Given the description of an element on the screen output the (x, y) to click on. 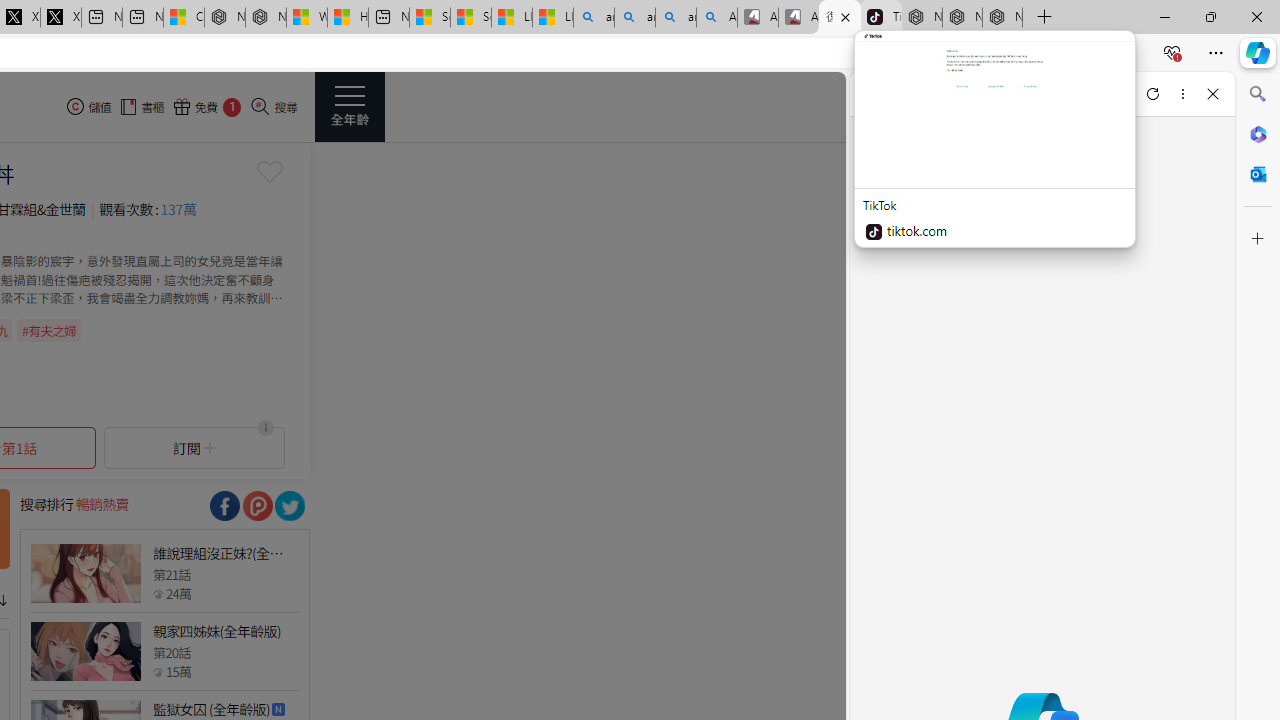
Show translate options (950, 53)
Compose (971, 93)
